Given the description of an element on the screen output the (x, y) to click on. 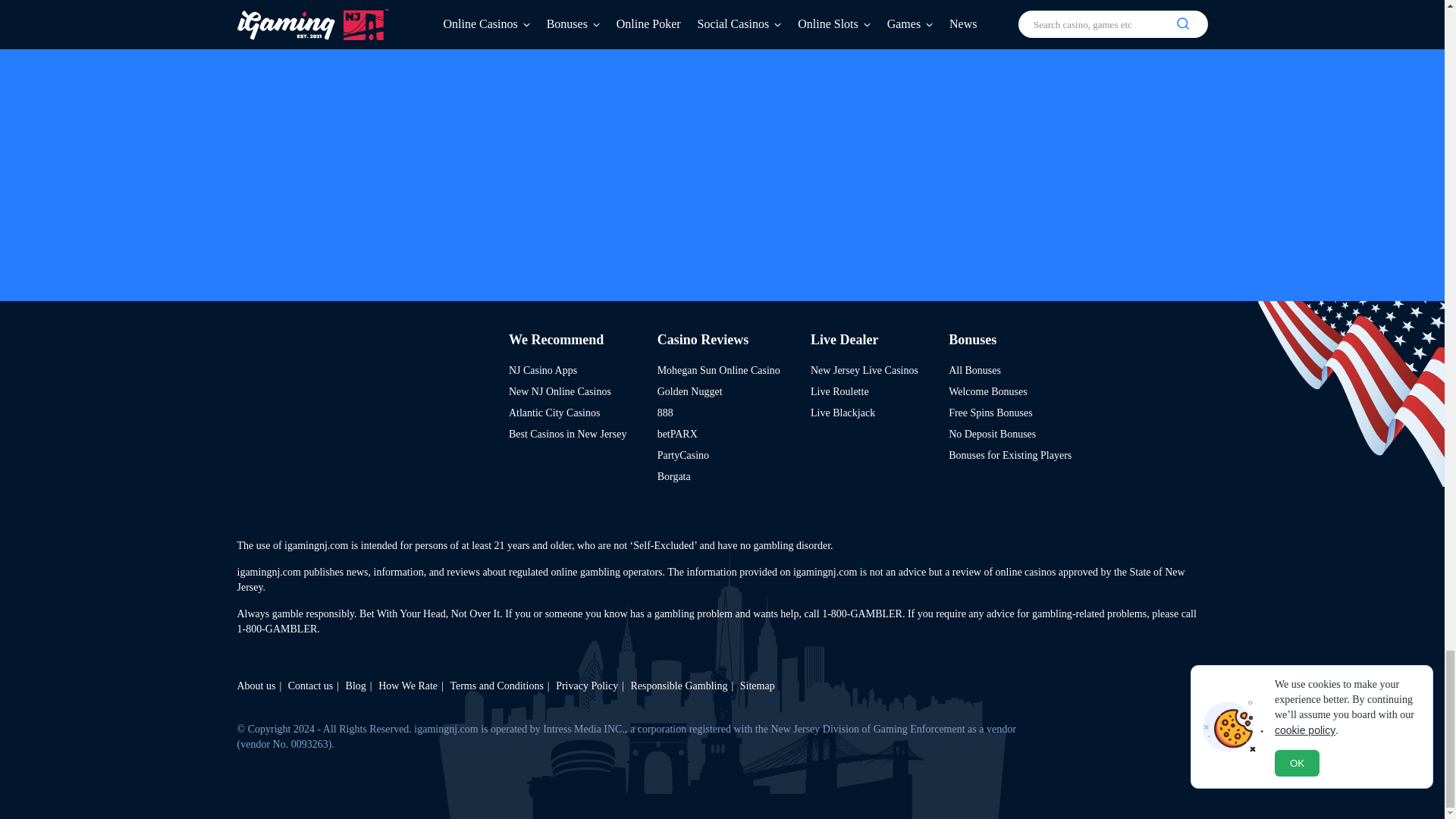
Meet the team (255, 685)
